Given the description of an element on the screen output the (x, y) to click on. 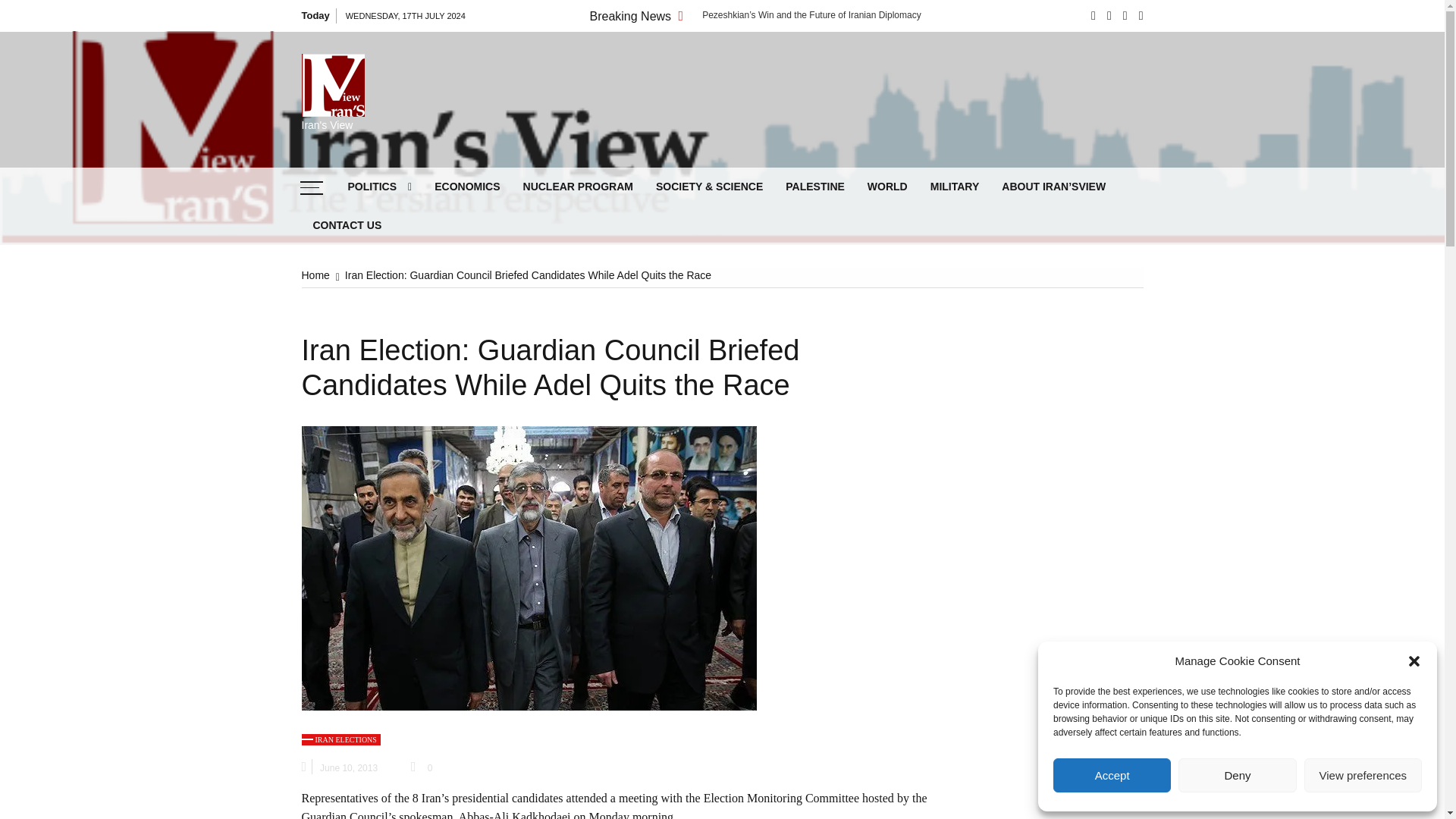
View preferences (1363, 775)
FOREIGN POLICY (430, 261)
IRAN ELECTIONS (430, 335)
WORLD (887, 186)
ECONOMICS (467, 186)
POLITICS (379, 186)
CONTACT US (347, 225)
SUPREME LEADER (430, 298)
DOMESTIC POLITICS (430, 224)
NUCLEAR PROGRAM (578, 186)
MILITARY (954, 186)
PALESTINE (815, 186)
Accept (1111, 775)
Deny (1236, 775)
